Given the description of an element on the screen output the (x, y) to click on. 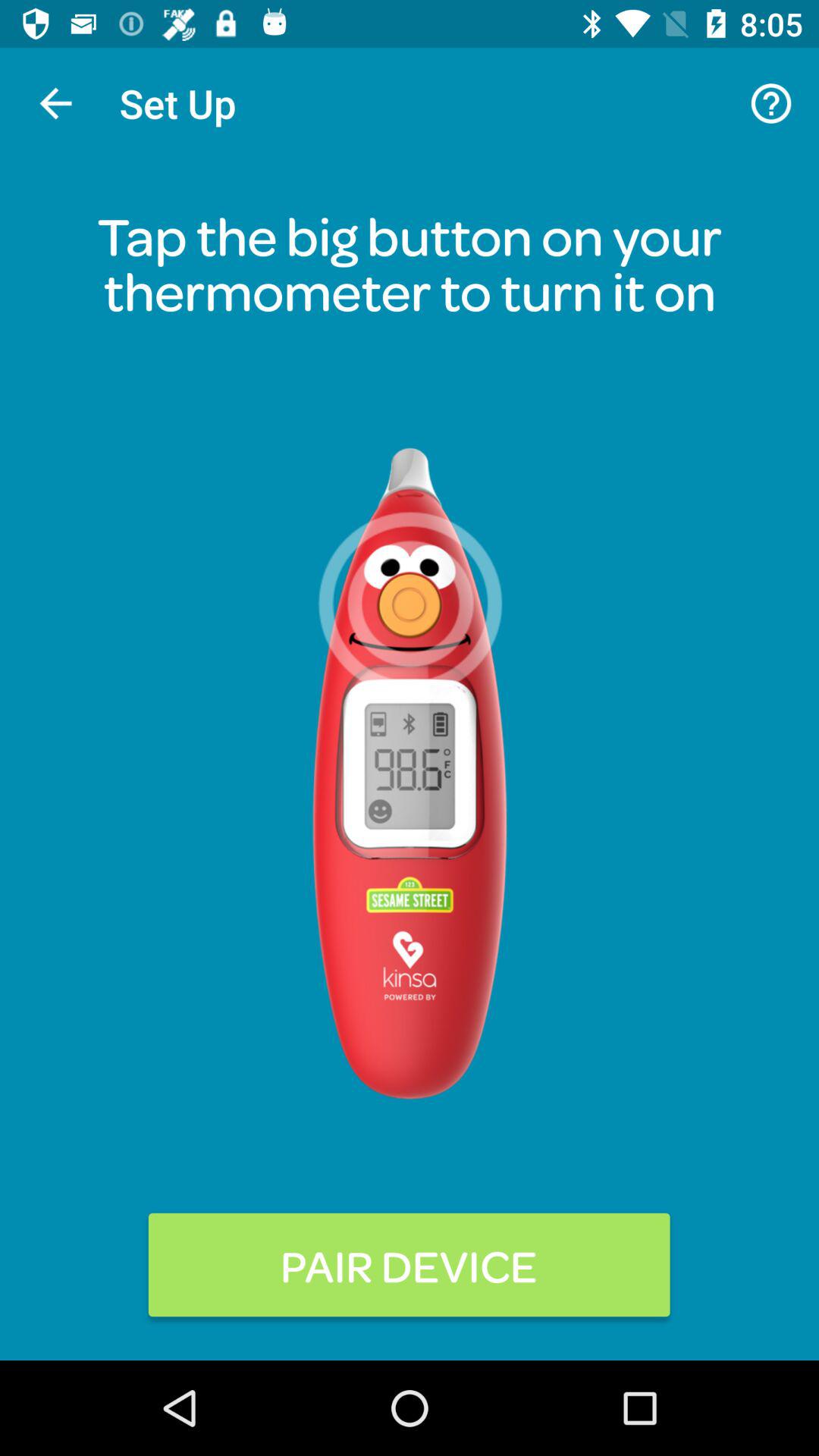
turn off item to the left of the set up item (55, 103)
